Given the description of an element on the screen output the (x, y) to click on. 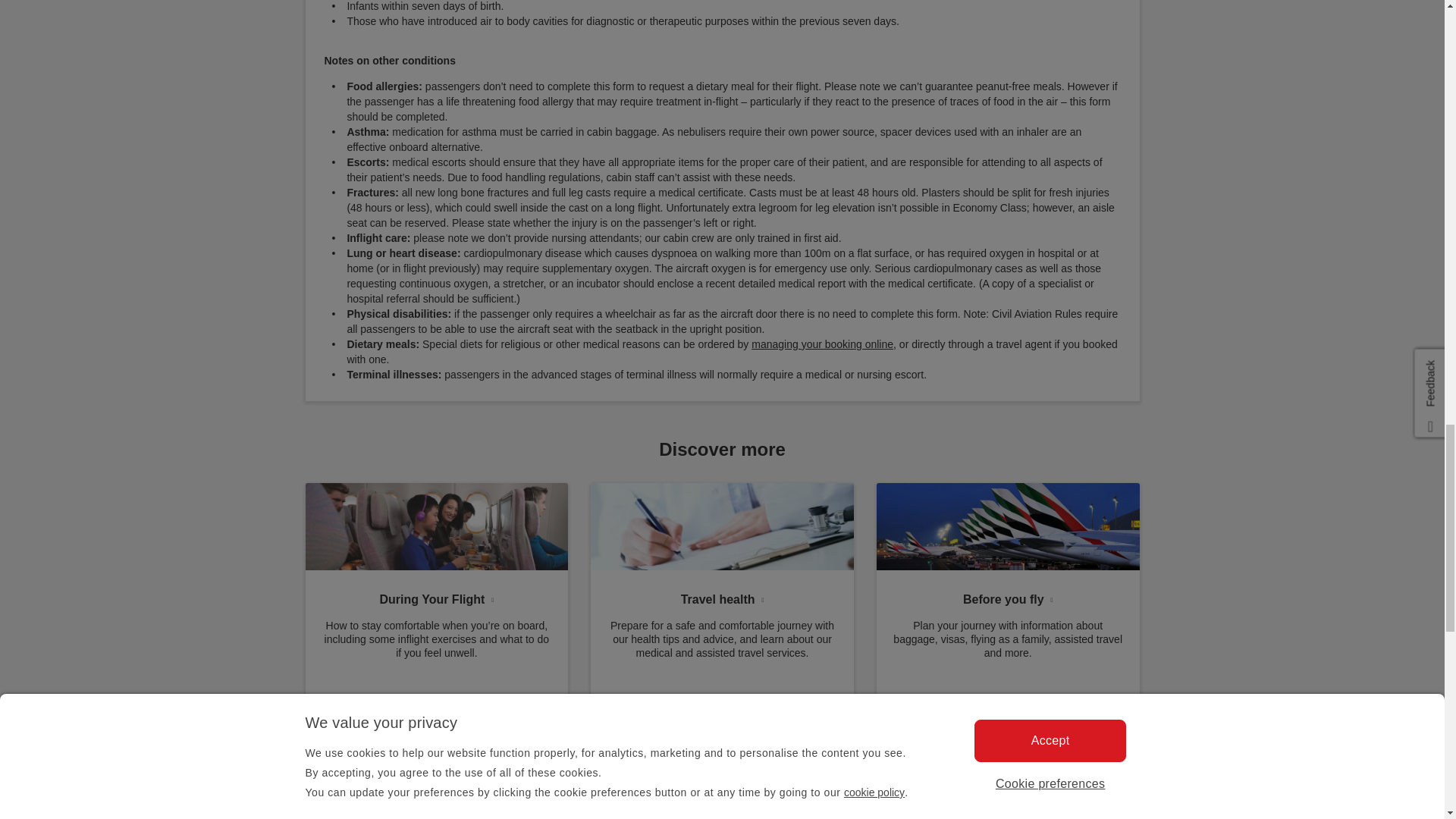
Manage your booking (822, 344)
Terminal 3 (1008, 526)
During Your Flight (435, 596)
Doctor taking notes (722, 526)
Travel health (722, 596)
Before you fly (1008, 596)
Onboard dining (435, 526)
